Given the description of an element on the screen output the (x, y) to click on. 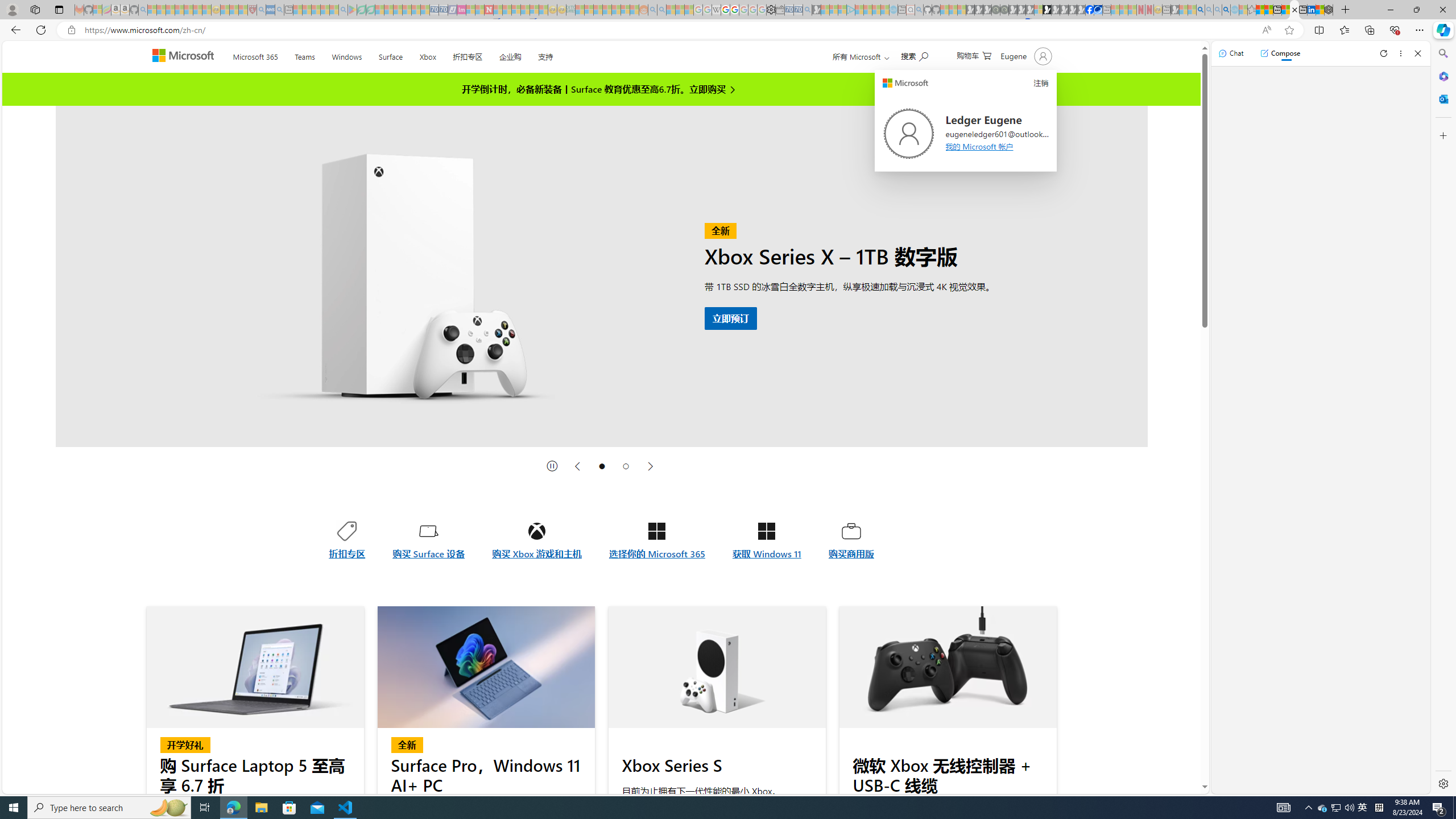
Workspaces (34, 9)
New Report Confirms 2023 Was Record Hot | Watch - Sleeping (188, 9)
Read aloud this page (Ctrl+Shift+U) (1266, 29)
Teams (304, 54)
Split screen (1318, 29)
Address and search bar (669, 29)
Bluey: Let's Play! - Apps on Google Play - Sleeping (352, 9)
